Given the description of an element on the screen output the (x, y) to click on. 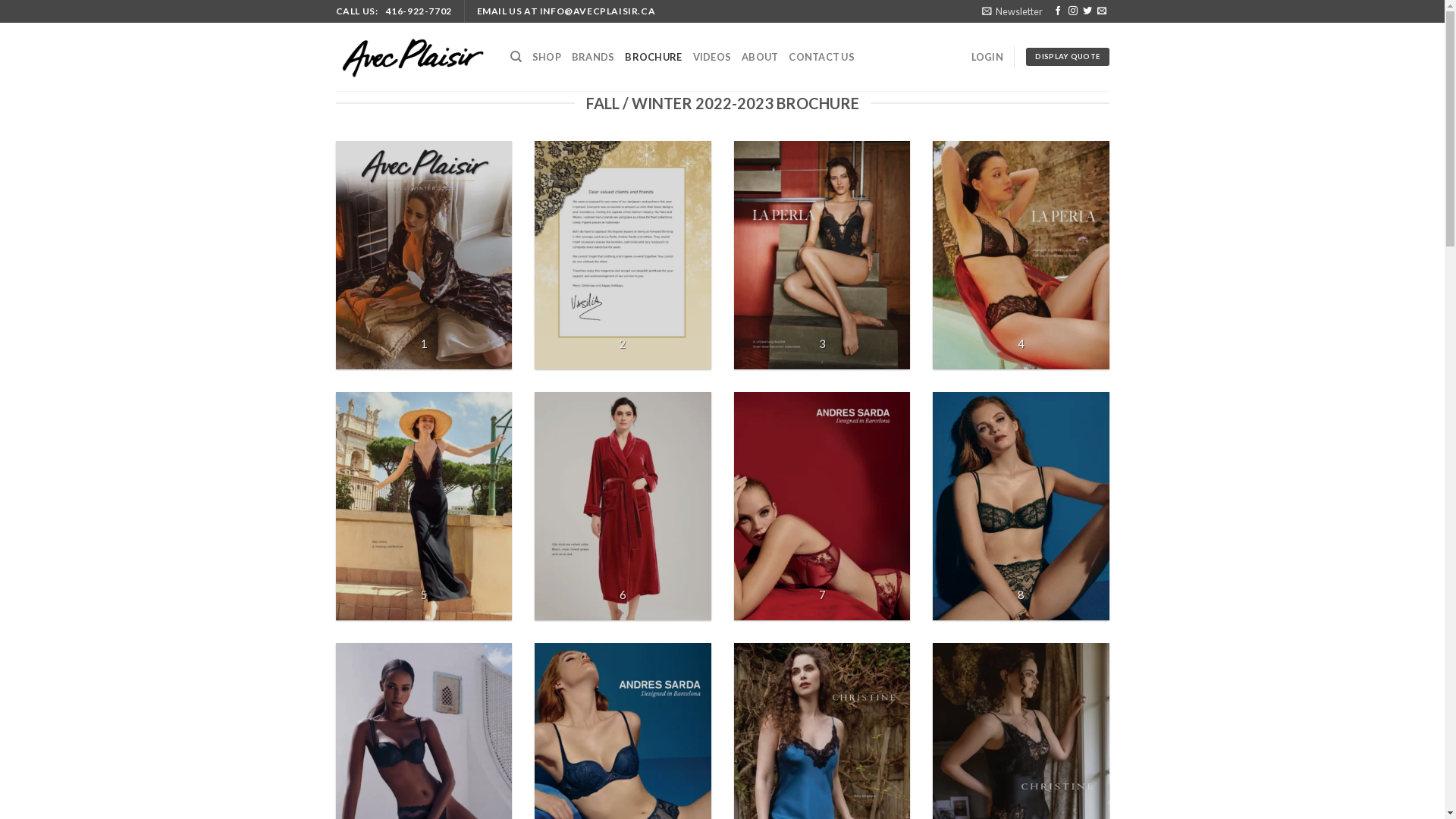
Send us an email Element type: hover (1101, 11)
Newsletter Element type: text (1012, 11)
6 Element type: text (622, 506)
3 Element type: text (822, 255)
2 Element type: text (622, 255)
Follow on Instagram Element type: hover (1072, 11)
SHOP Element type: text (546, 56)
BROCHURE Element type: text (652, 56)
4 Element type: text (1020, 255)
CONTACT US Element type: text (821, 56)
Avec Plaisir - Womens Fine Lingerie & Swimwear Element type: hover (410, 56)
ABOUT Element type: text (759, 56)
8 Element type: text (1020, 506)
LOGIN Element type: text (987, 56)
BRANDS Element type: text (593, 56)
5 Element type: text (423, 506)
DISPLAY QUOTE Element type: text (1067, 56)
Follow on Twitter Element type: hover (1087, 11)
VIDEOS Element type: text (712, 56)
Follow on Facebook Element type: hover (1057, 11)
7 Element type: text (822, 506)
1 Element type: text (423, 255)
